Given the description of an element on the screen output the (x, y) to click on. 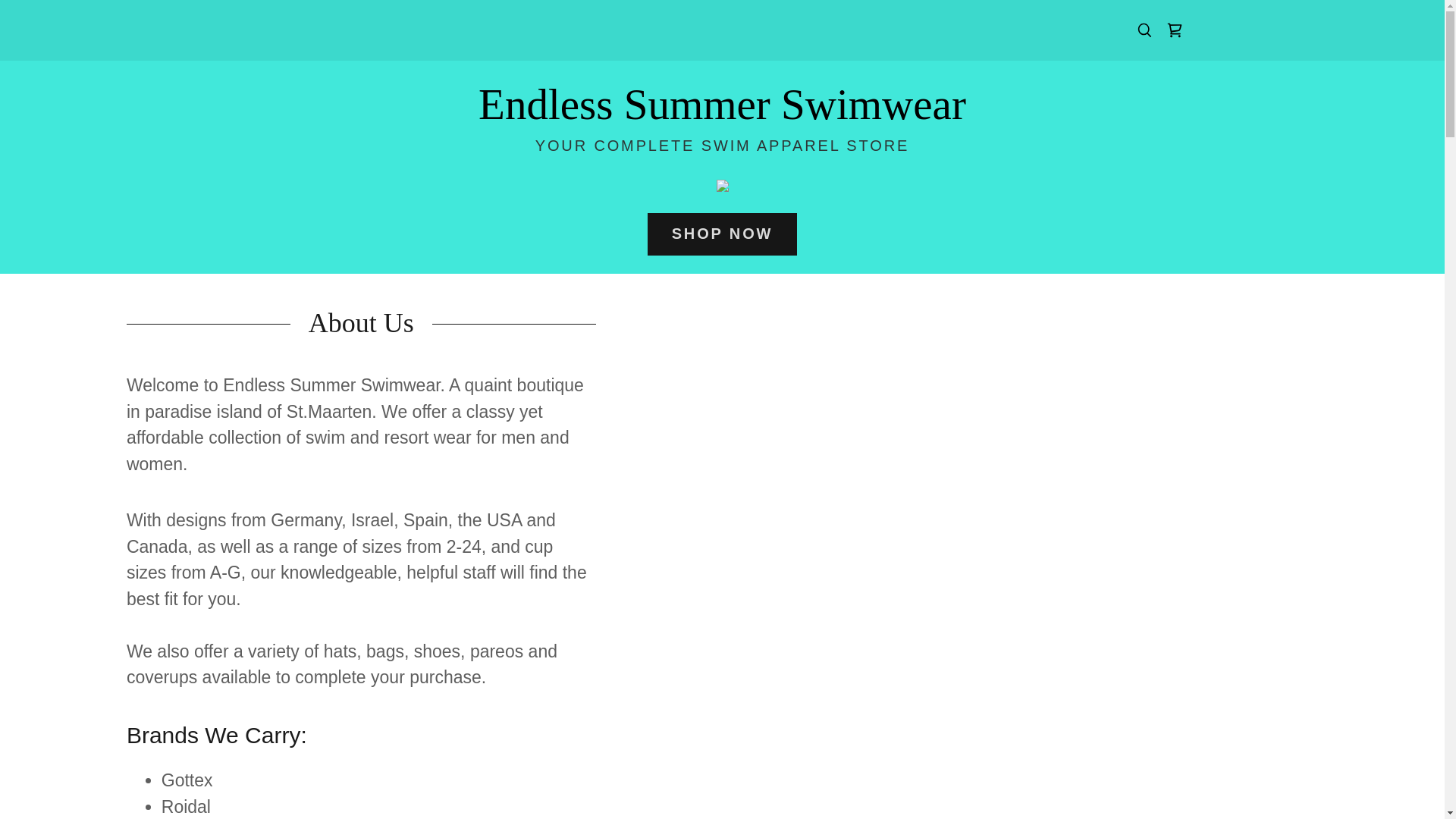
SHOP NOW (722, 233)
Endless Summer Swimwear (722, 112)
Endless Summer Swimwear (722, 112)
